Given the description of an element on the screen output the (x, y) to click on. 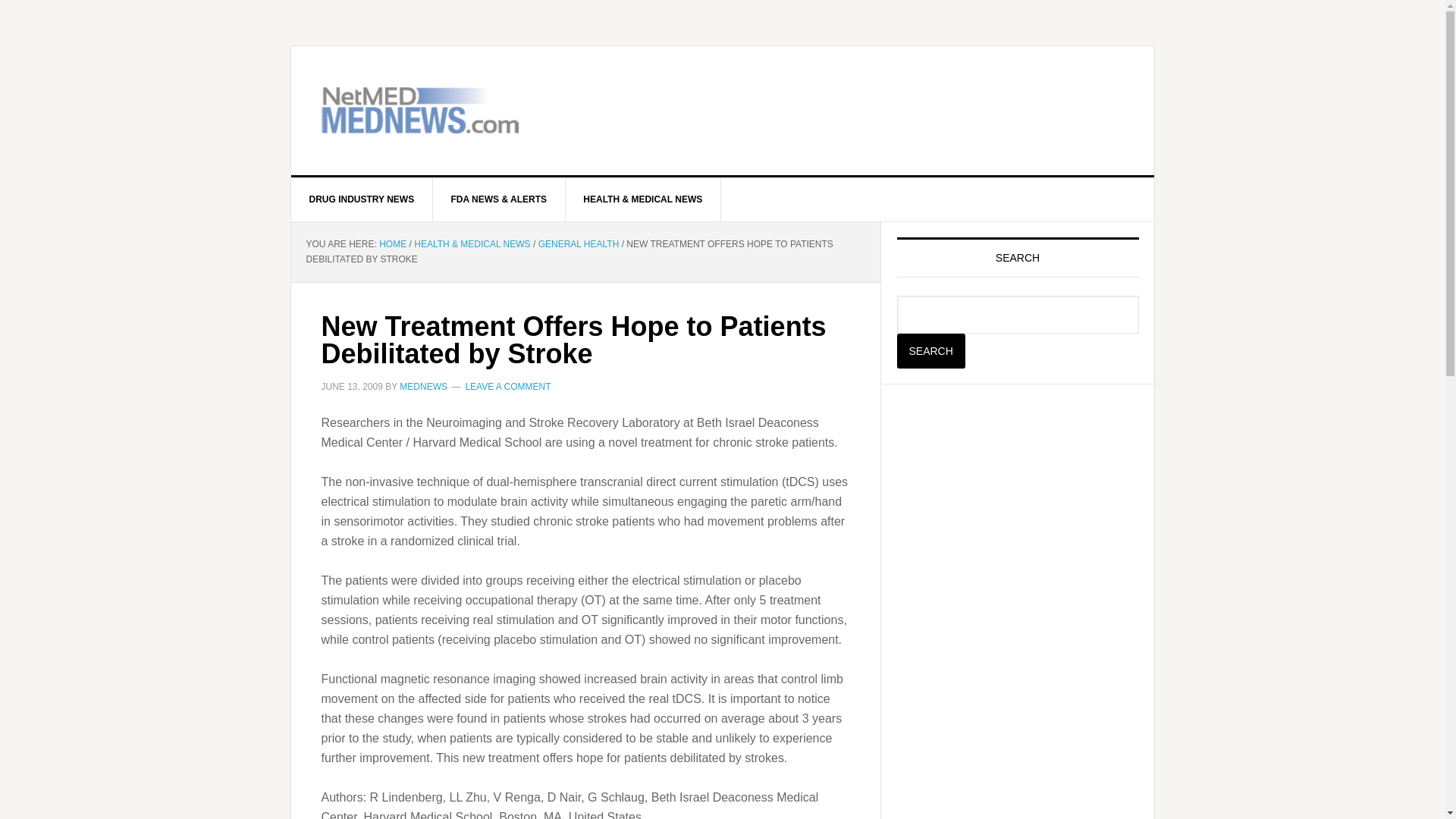
Search (929, 350)
Search (929, 350)
MEDNEWS (422, 386)
HOME (392, 244)
DRUG INDUSTRY NEWS (362, 199)
MEDNEWS (419, 110)
GENERAL HEALTH (579, 244)
LEAVE A COMMENT (507, 386)
Advertisement (946, 99)
